Given the description of an element on the screen output the (x, y) to click on. 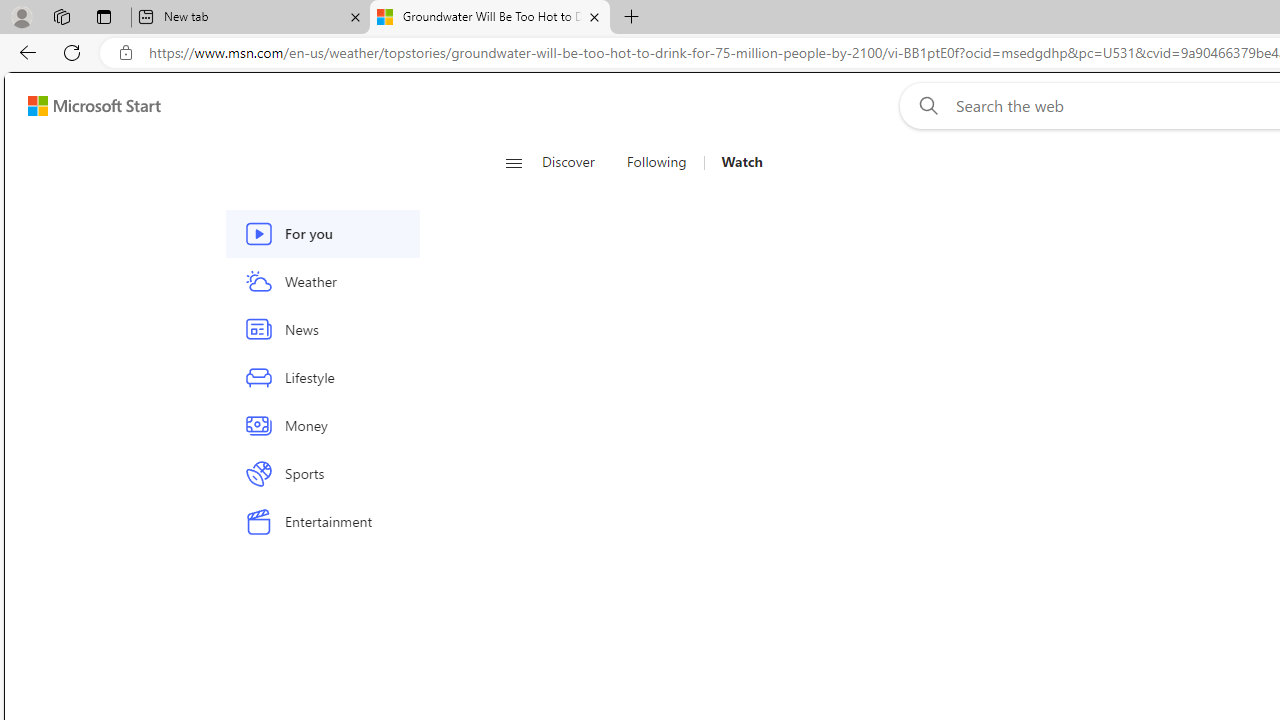
Open navigation menu (513, 162)
